Given the description of an element on the screen output the (x, y) to click on. 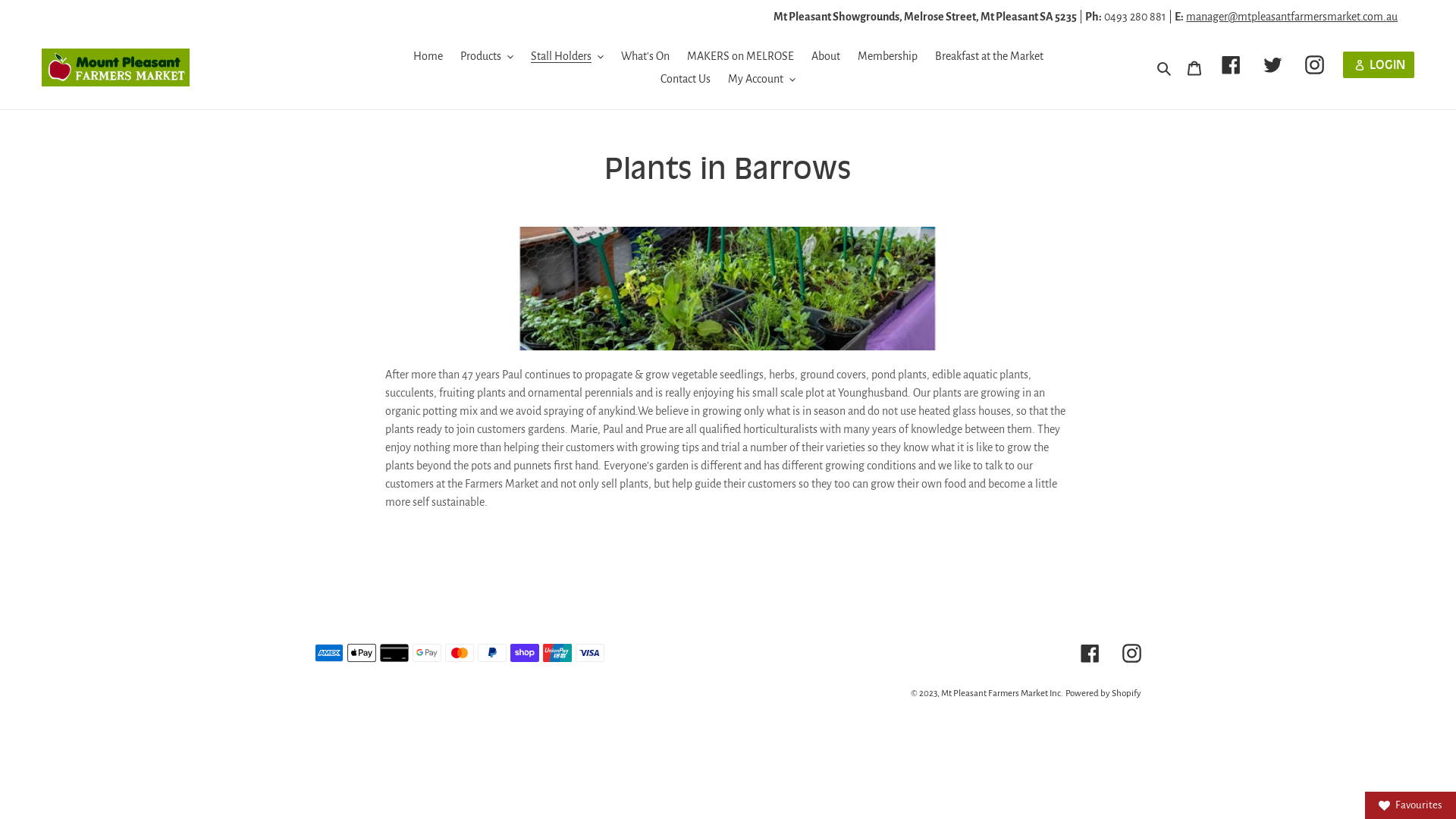
Membership Element type: text (886, 55)
What's On Element type: text (644, 55)
Stall Holders Element type: text (567, 55)
Log in Element type: text (1378, 64)
MAKERS on MELROSE Element type: text (740, 55)
Instagram Element type: text (1314, 65)
About Element type: text (825, 55)
Cart Element type: text (1194, 67)
Contact Us Element type: text (685, 78)
Facebook Element type: text (1230, 65)
Facebook Element type: text (1089, 652)
Mt Pleasant Farmers Market Inc. Element type: text (1002, 693)
Products Element type: text (485, 55)
Instagram Element type: text (1131, 652)
My Account Element type: text (761, 78)
manager@mtpleasantfarmersmarket.com.au Element type: text (1291, 16)
Twitter Element type: text (1272, 65)
Home Element type: text (426, 55)
Search Element type: text (1164, 67)
Powered by Shopify Element type: text (1103, 693)
Breakfast at the Market Element type: text (988, 55)
